Given the description of an element on the screen output the (x, y) to click on. 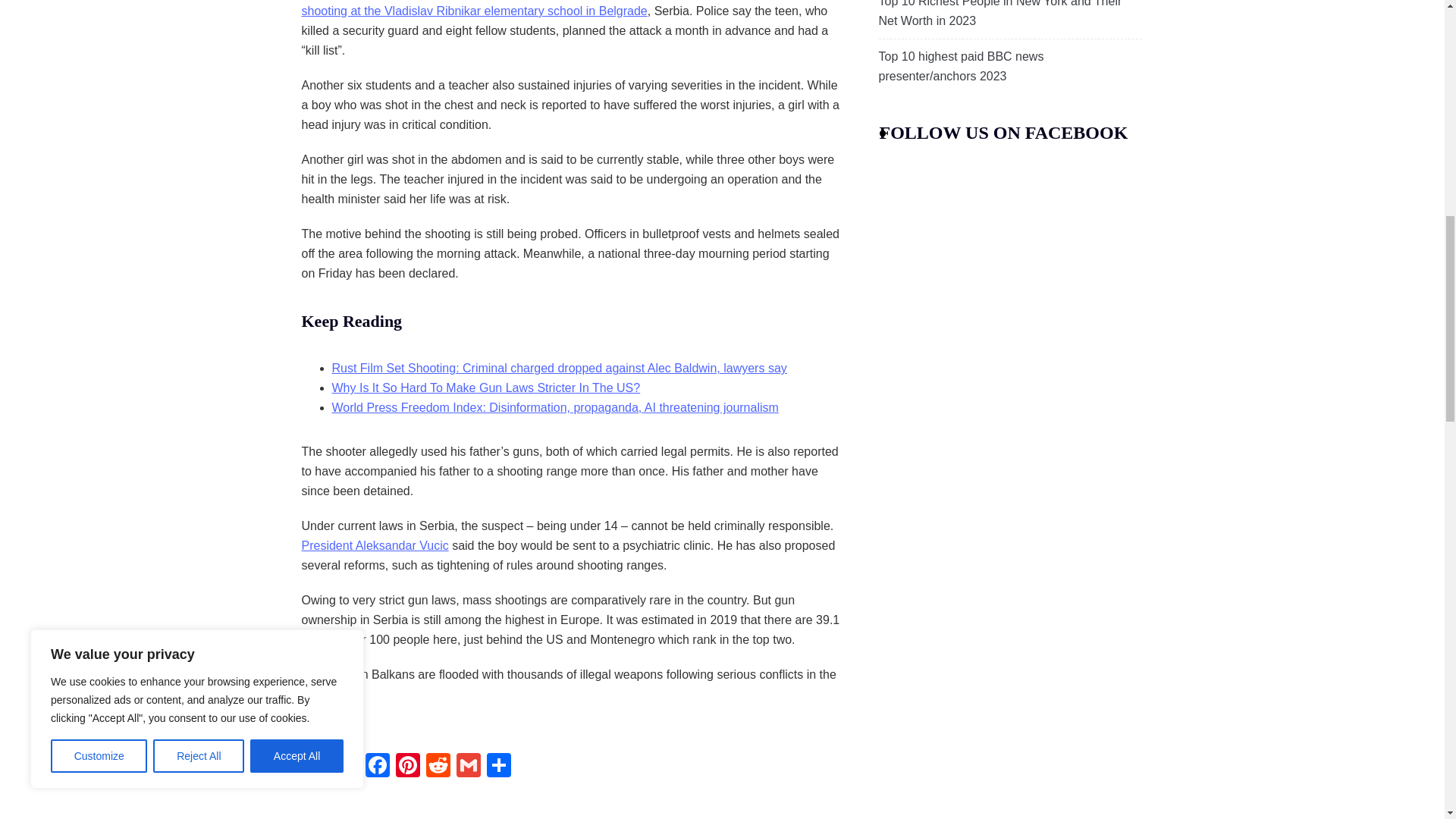
WhatsApp (316, 766)
Facebook (377, 766)
Twitter (346, 766)
Reddit (437, 766)
Pinterest (408, 766)
Gmail (467, 766)
